Given the description of an element on the screen output the (x, y) to click on. 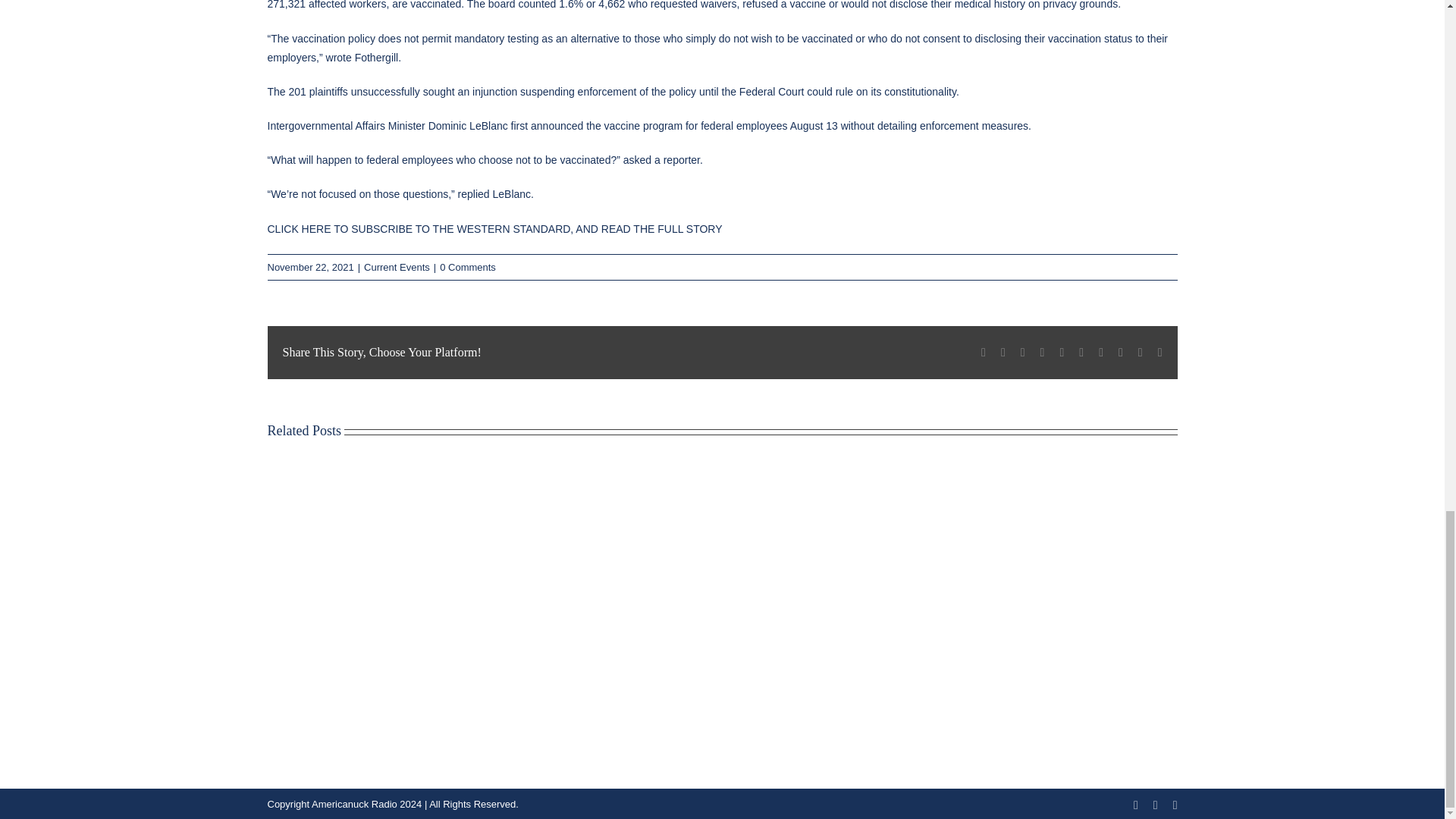
0 Comments (467, 266)
Current Events (396, 266)
